Given the description of an element on the screen output the (x, y) to click on. 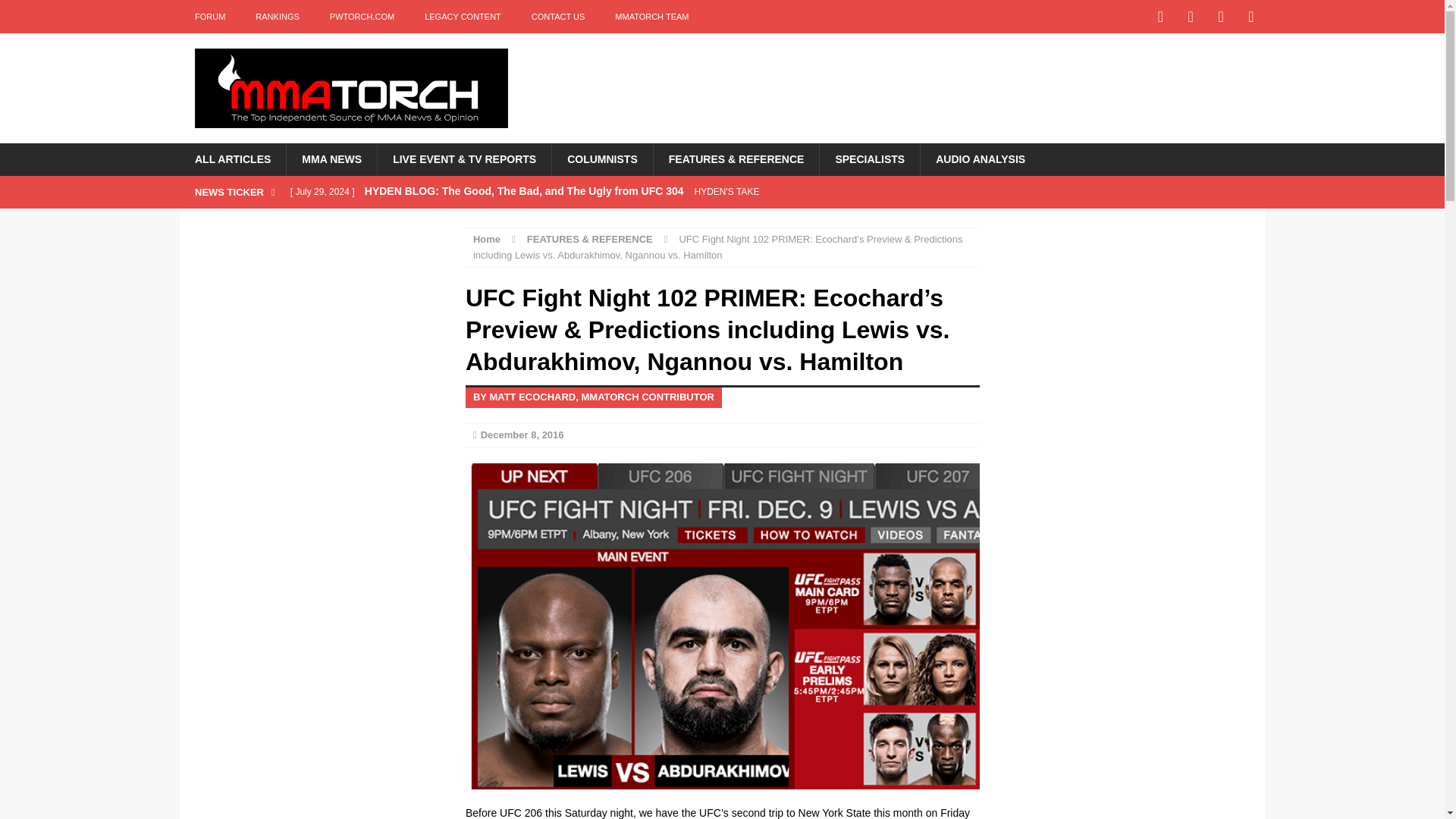
MMATorch (350, 88)
HYDEN BLOG: The Good, The Bad, and The Ugly from UFC 304 (582, 192)
MMA NEWS (331, 159)
FORUM (209, 16)
PWTORCH.COM (361, 16)
LEGACY CONTENT (462, 16)
ALL ARTICLES (232, 159)
RANKINGS (277, 16)
CONTACT US (557, 16)
COLUMNISTS (601, 159)
MMATORCH TEAM (651, 16)
